Given the description of an element on the screen output the (x, y) to click on. 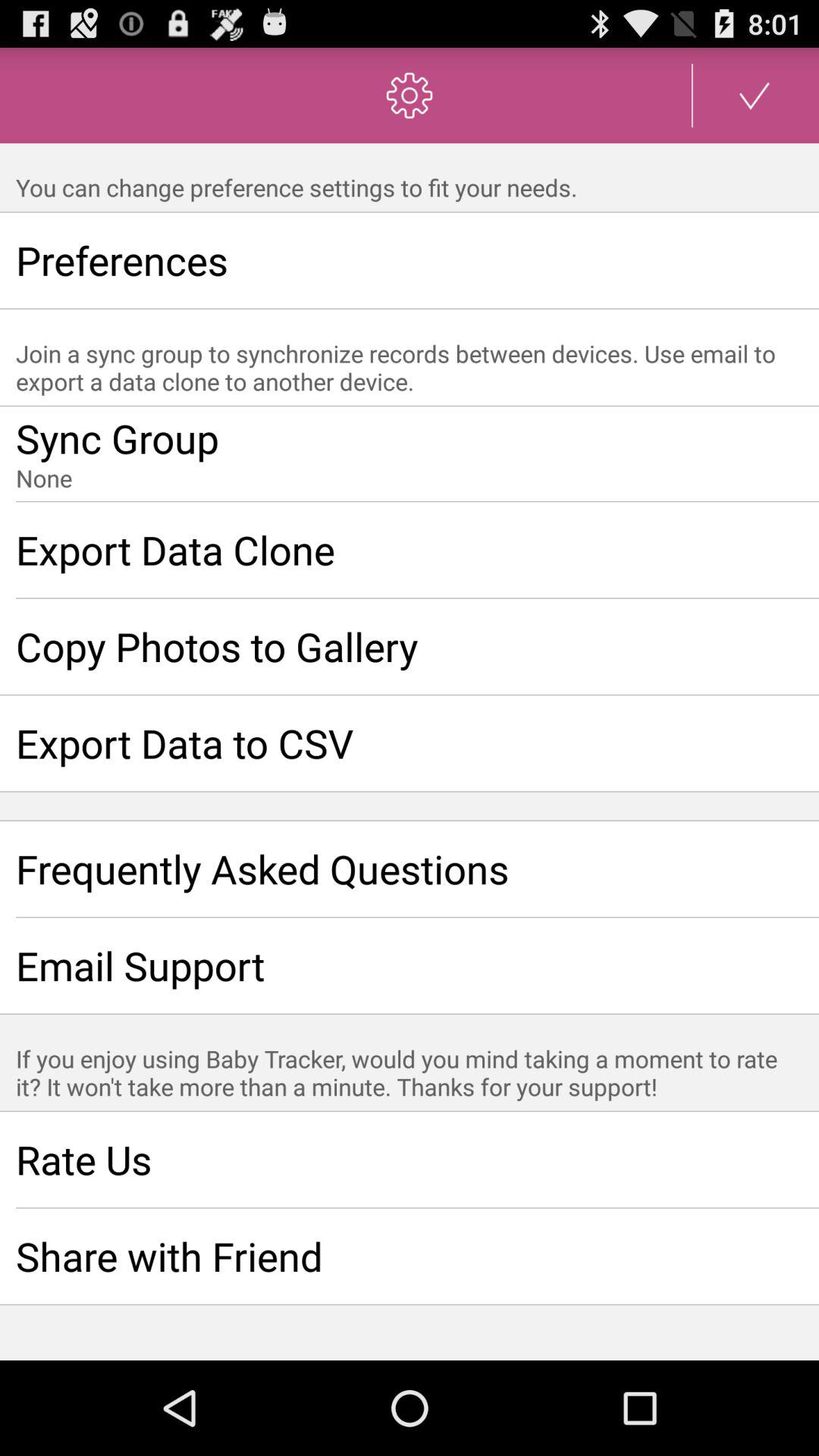
save settings (755, 95)
